Given the description of an element on the screen output the (x, y) to click on. 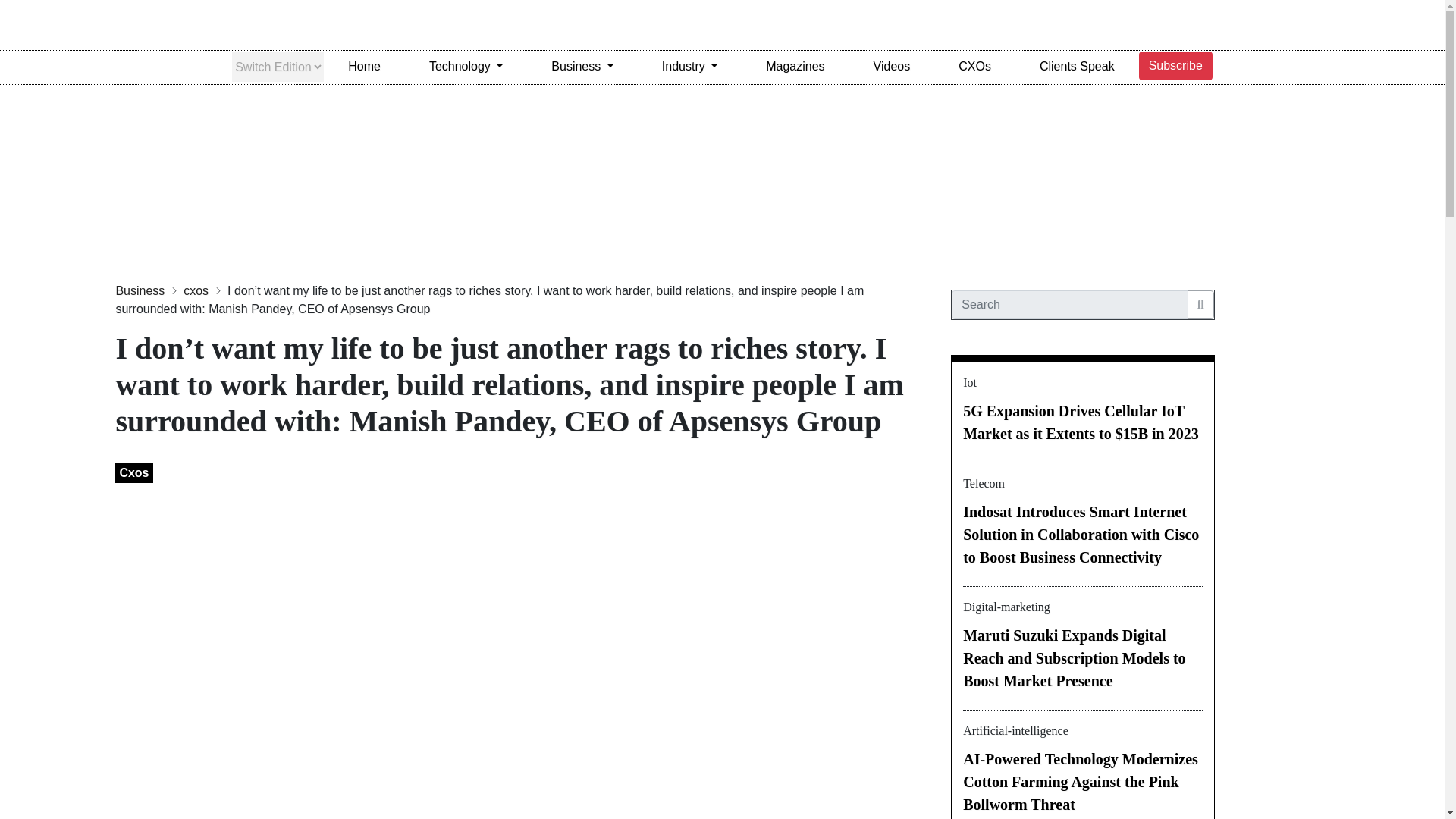
Industry (689, 66)
Technology (465, 66)
Home (363, 66)
Business (582, 66)
